Given the description of an element on the screen output the (x, y) to click on. 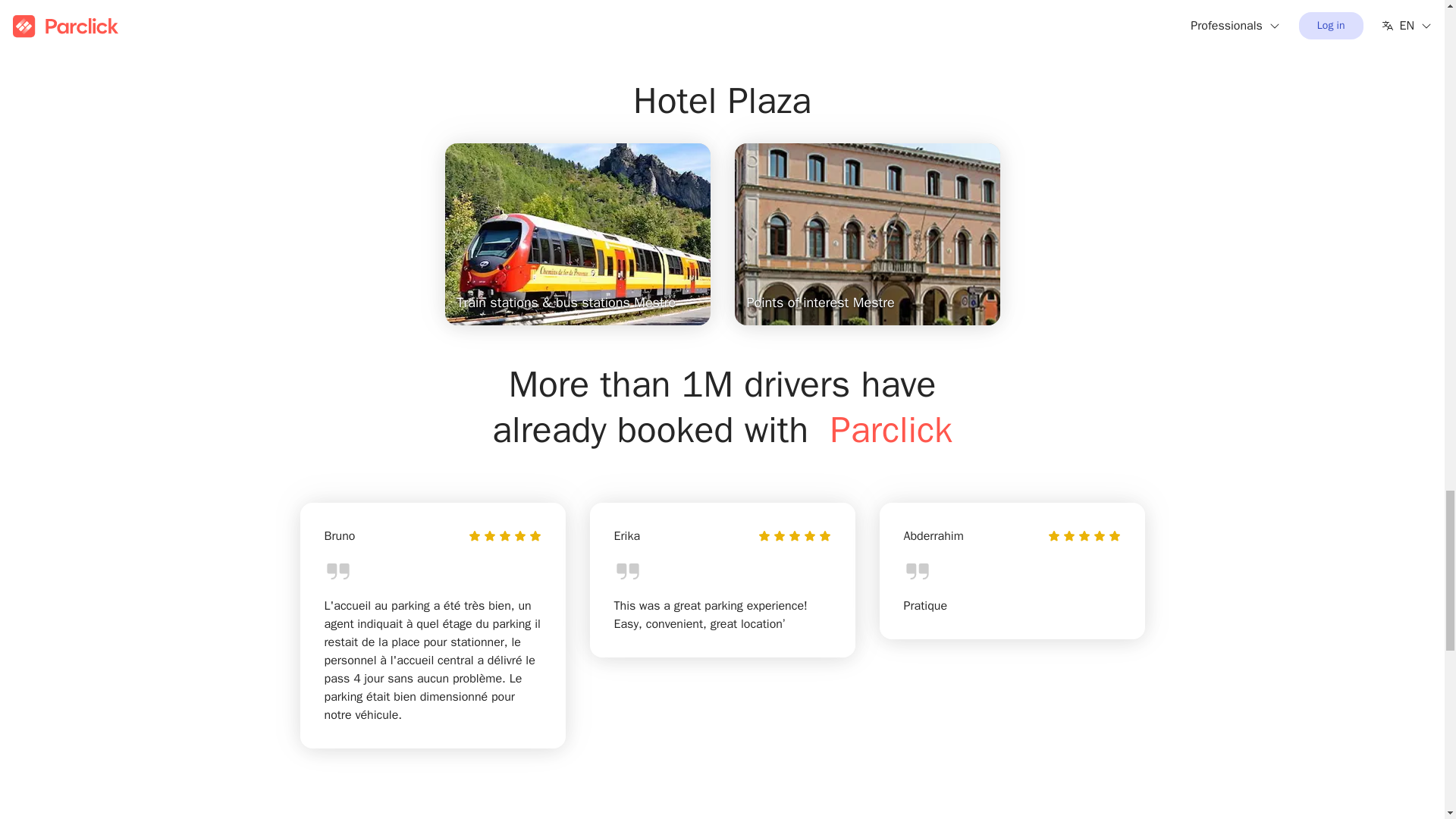
Points of interest Mestre (865, 234)
